Given the description of an element on the screen output the (x, y) to click on. 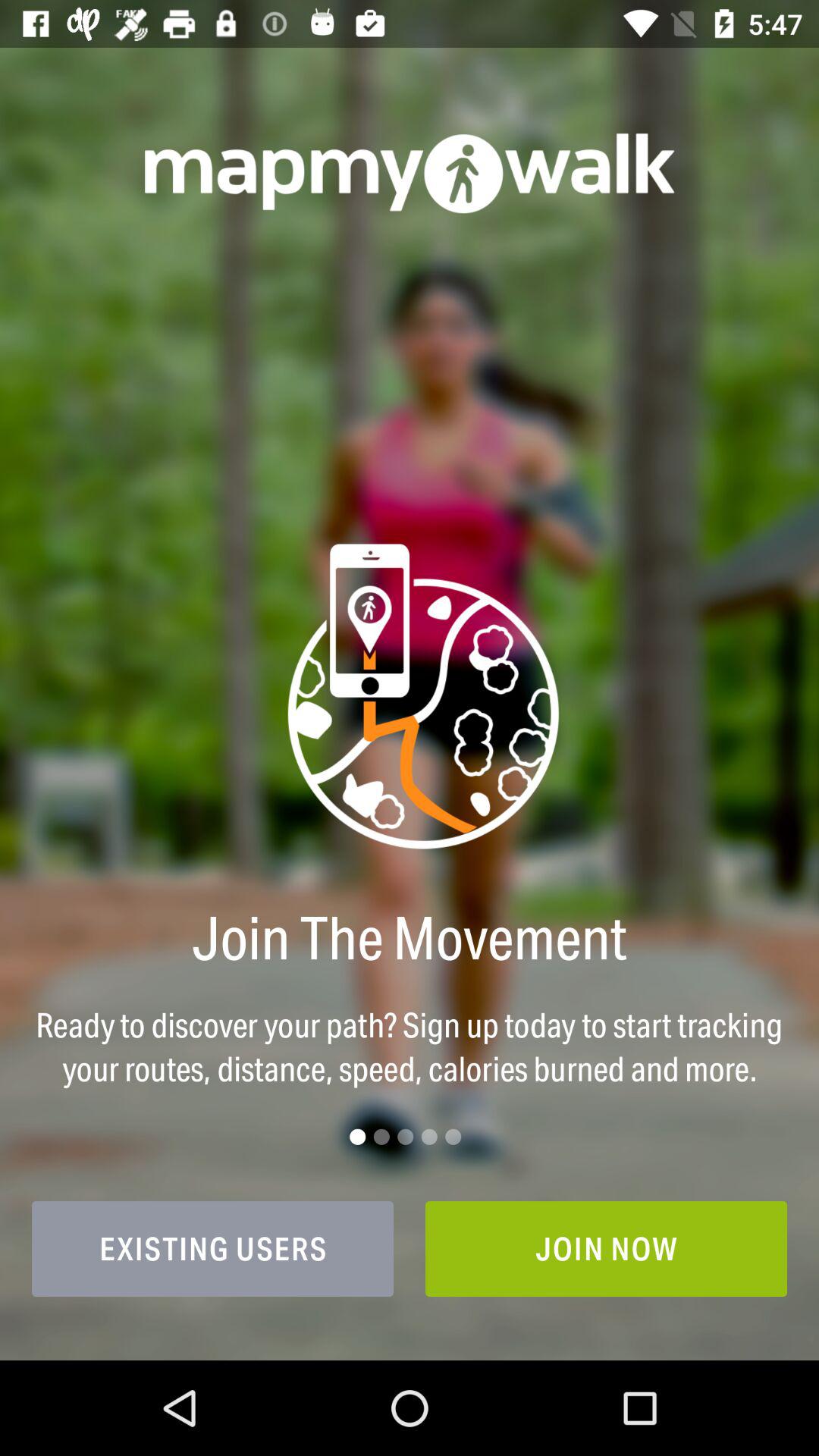
select item at the bottom right corner (606, 1248)
